Given the description of an element on the screen output the (x, y) to click on. 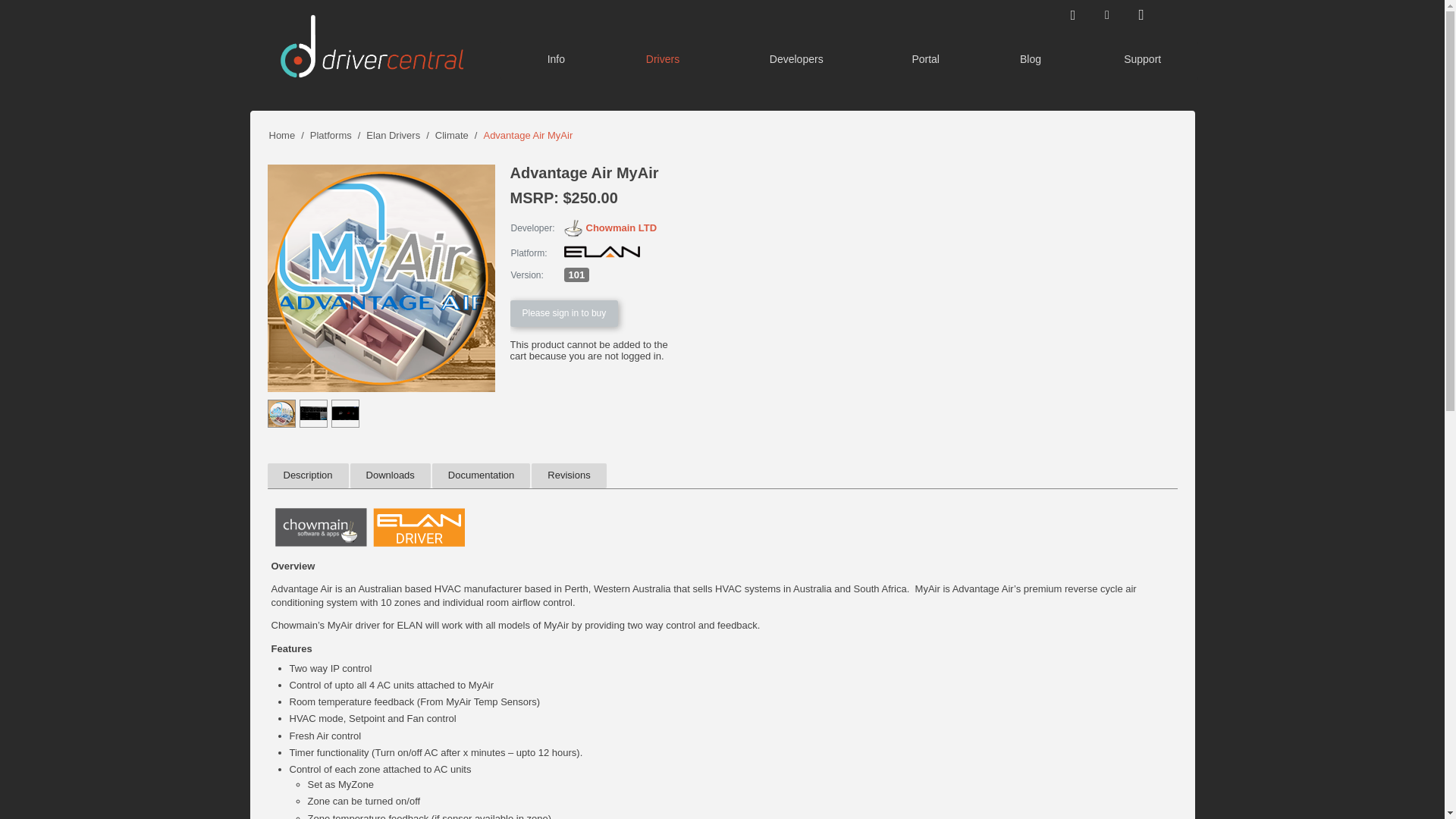
Support (1141, 60)
Climate (451, 134)
Portal (924, 60)
Platforms (330, 134)
Elan Drivers (393, 134)
Drivers (662, 60)
Developers (796, 60)
Home (281, 134)
Info (555, 60)
Blog (1030, 60)
